Given the description of an element on the screen output the (x, y) to click on. 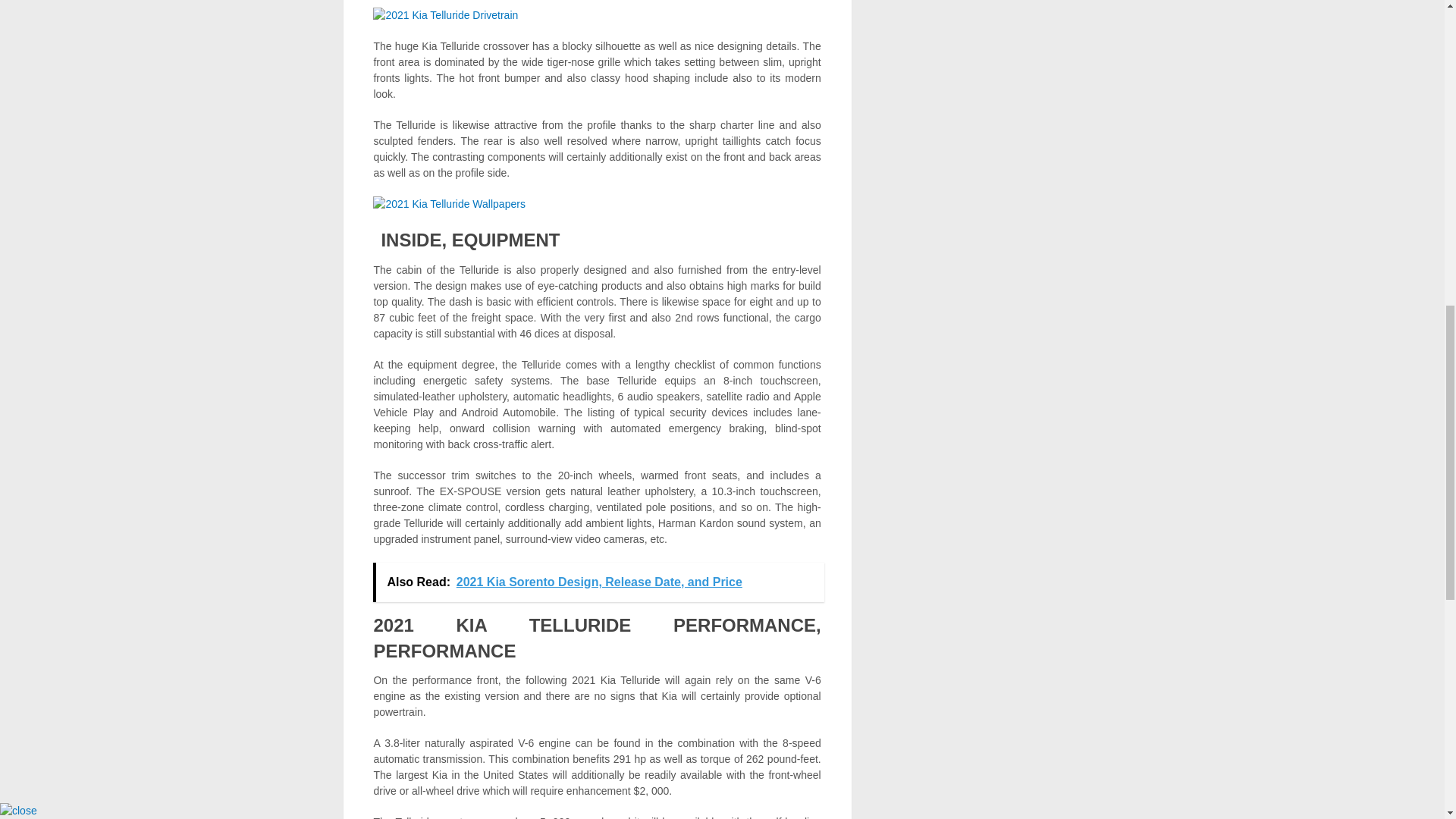
2021 Kia Telluride Wallpapers (448, 203)
Also Read:  2021 Kia Sorento Design, Release Date, and Price (598, 581)
2021 Kia Telluride Drivetrain (445, 15)
